Given the description of an element on the screen output the (x, y) to click on. 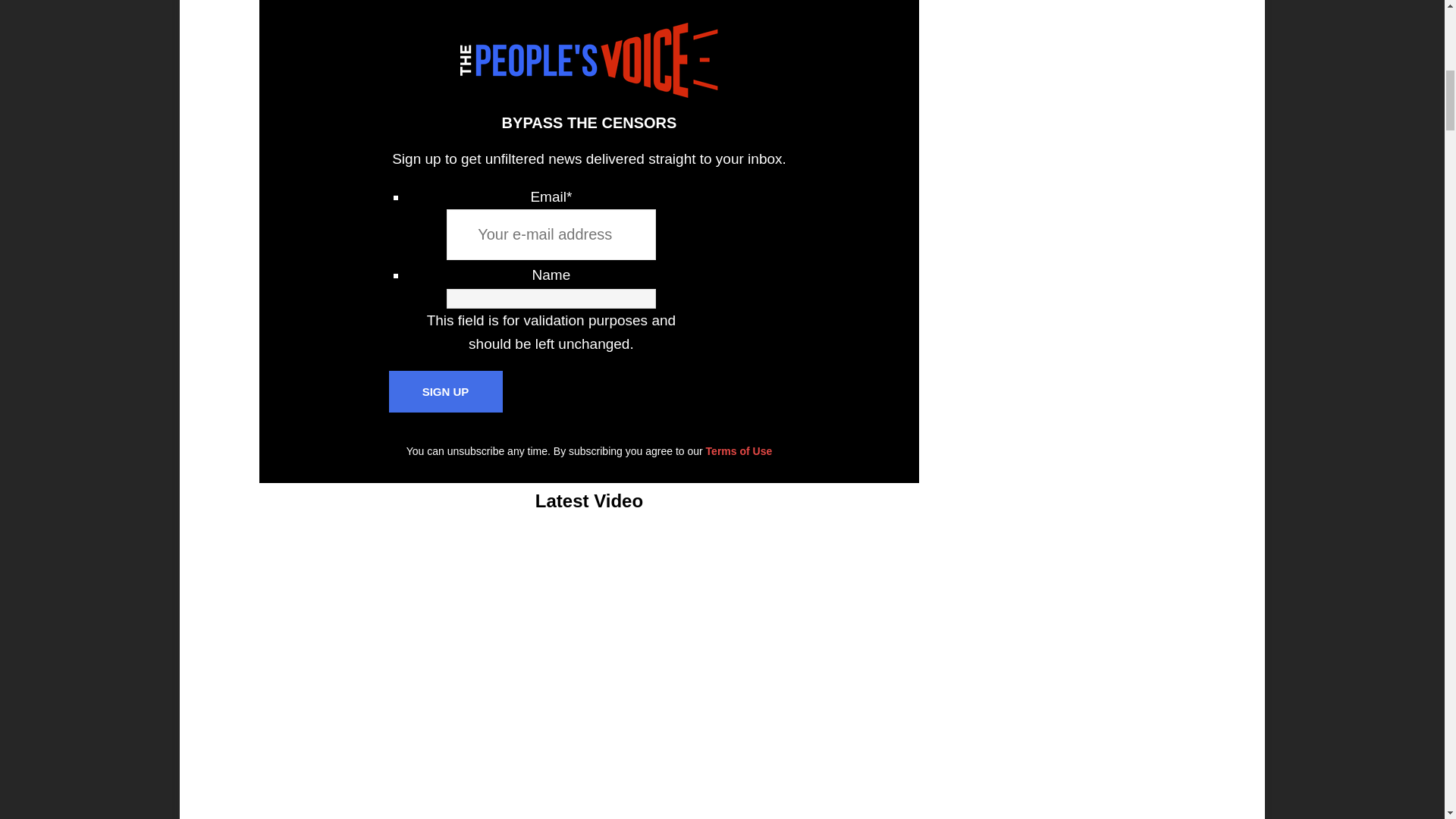
SIGN UP (445, 391)
